Given the description of an element on the screen output the (x, y) to click on. 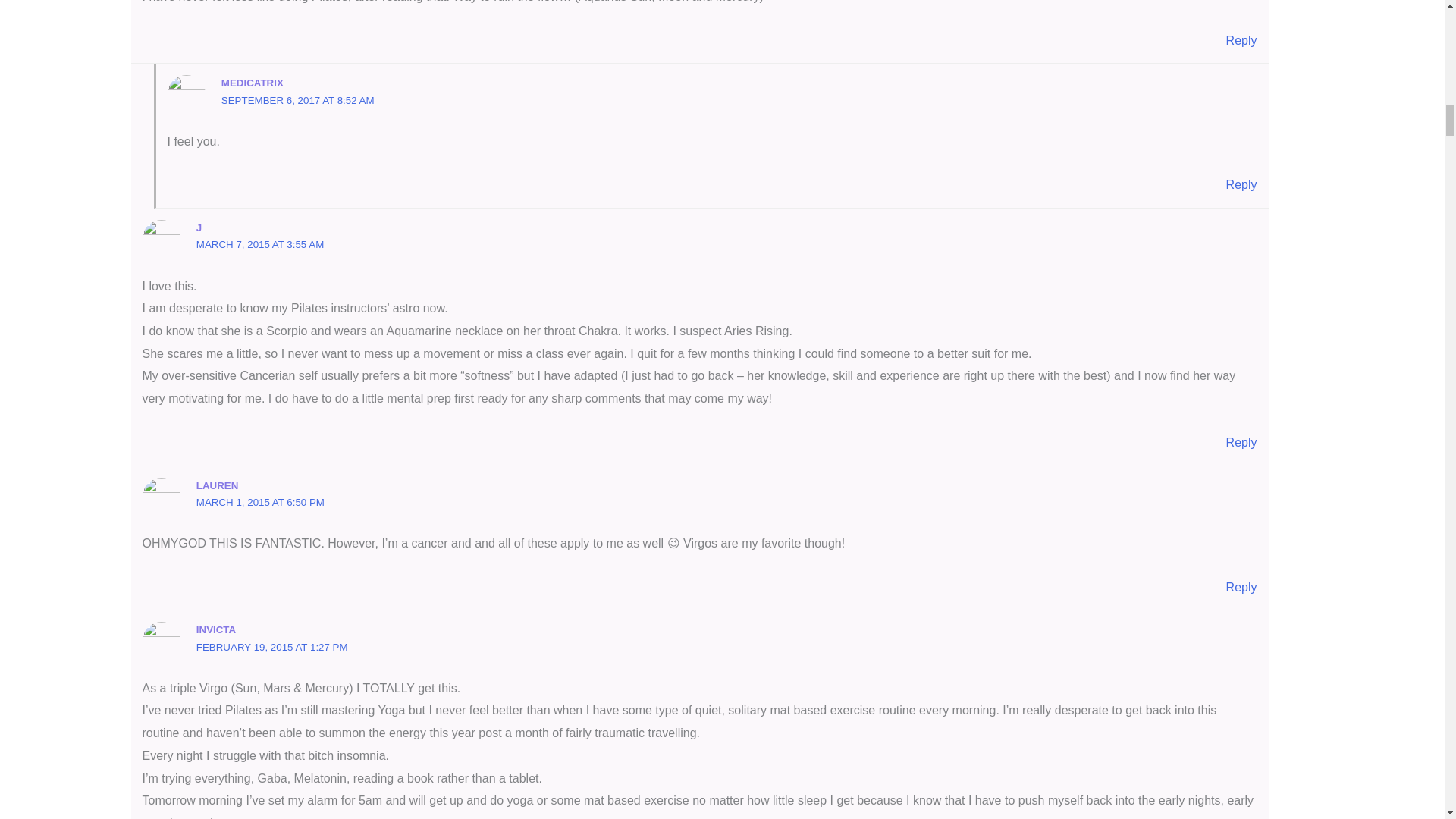
Reply (1241, 40)
SEPTEMBER 6, 2017 AT 8:52 AM (297, 100)
Reply (1241, 184)
